Given the description of an element on the screen output the (x, y) to click on. 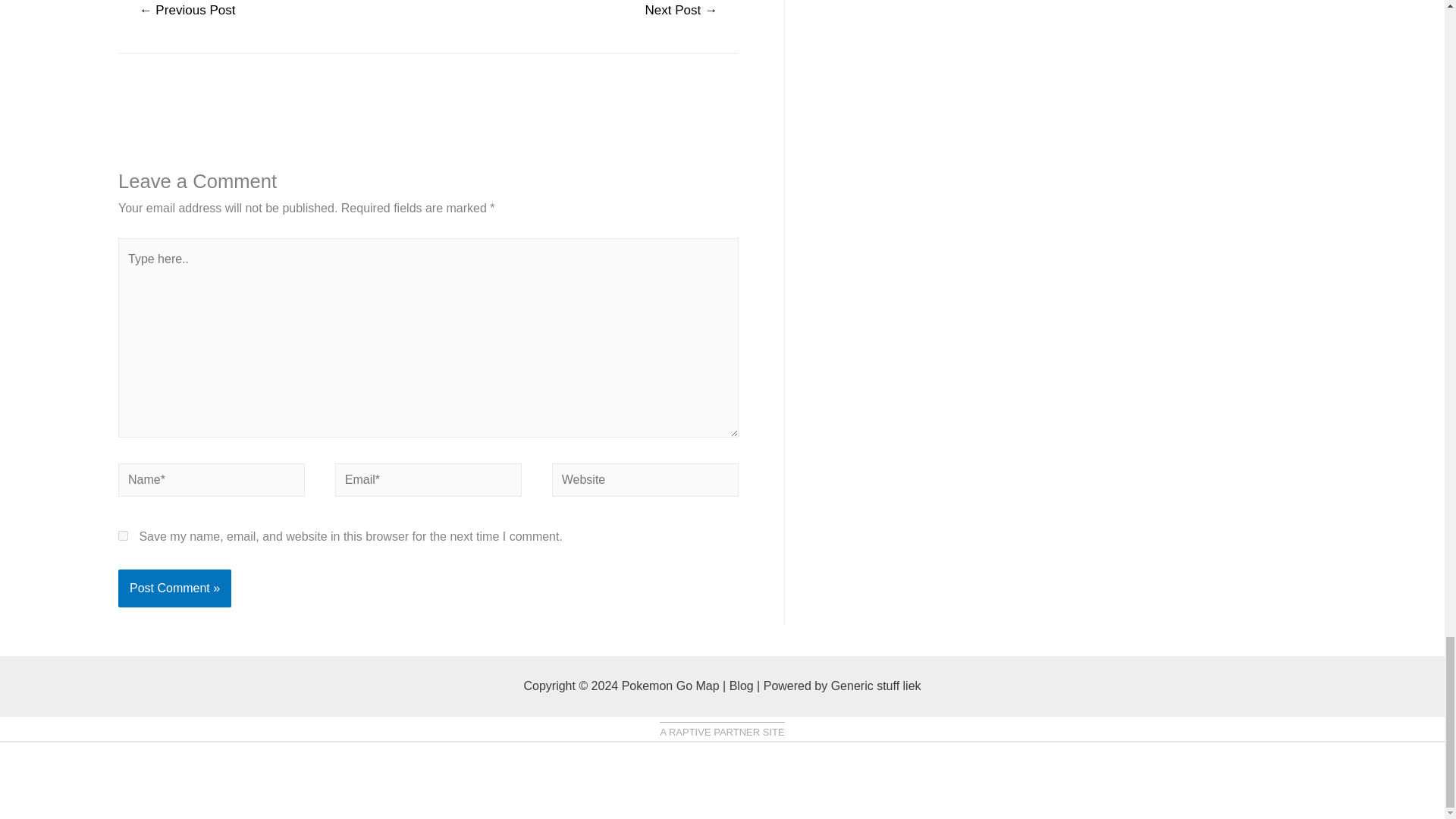
yes (122, 535)
